Given the description of an element on the screen output the (x, y) to click on. 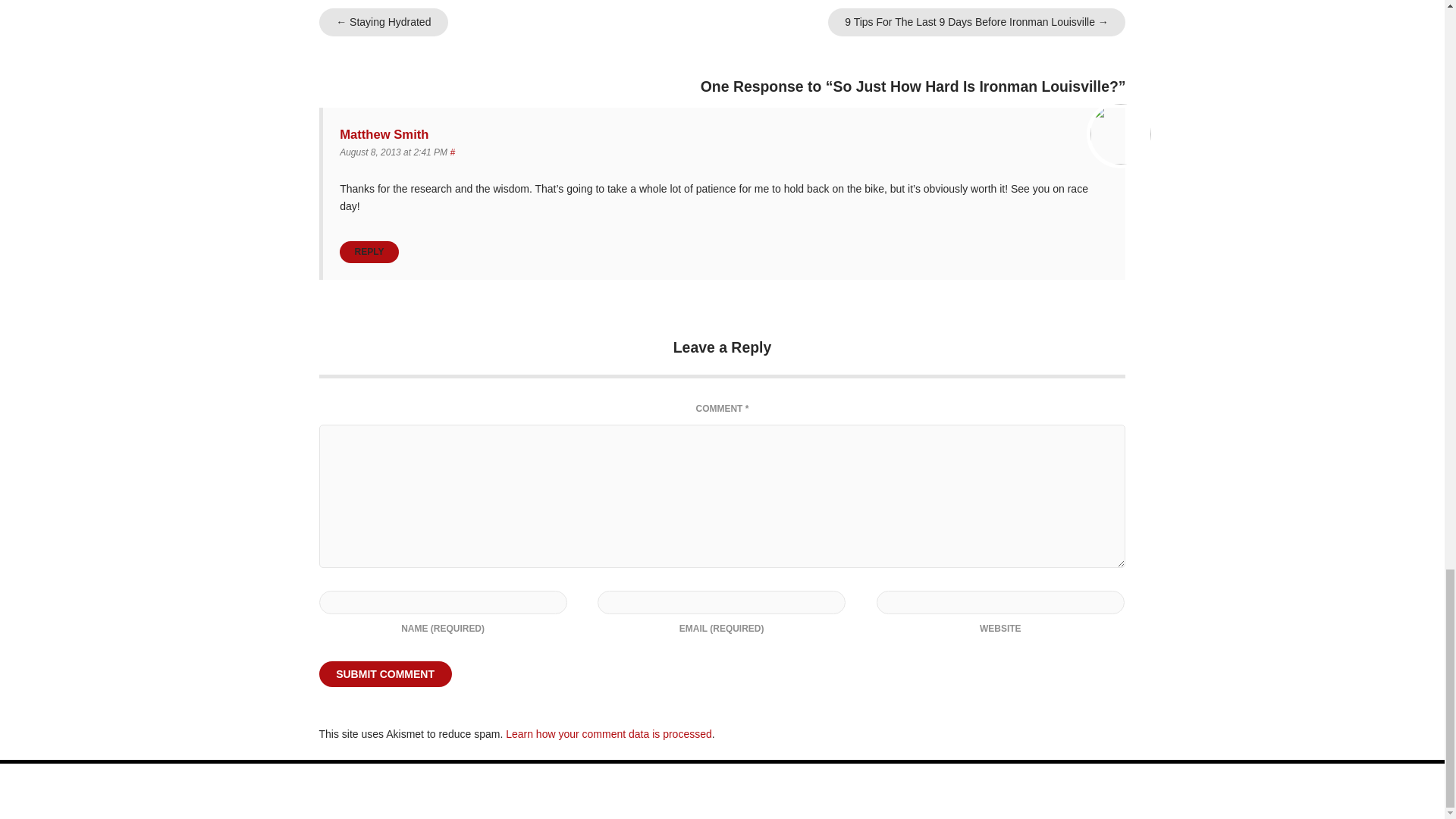
REPLY (368, 251)
Learn how your comment data is processed (608, 734)
Submit Comment (384, 673)
Submit Comment (384, 673)
Matthew Smith (383, 134)
